Given the description of an element on the screen output the (x, y) to click on. 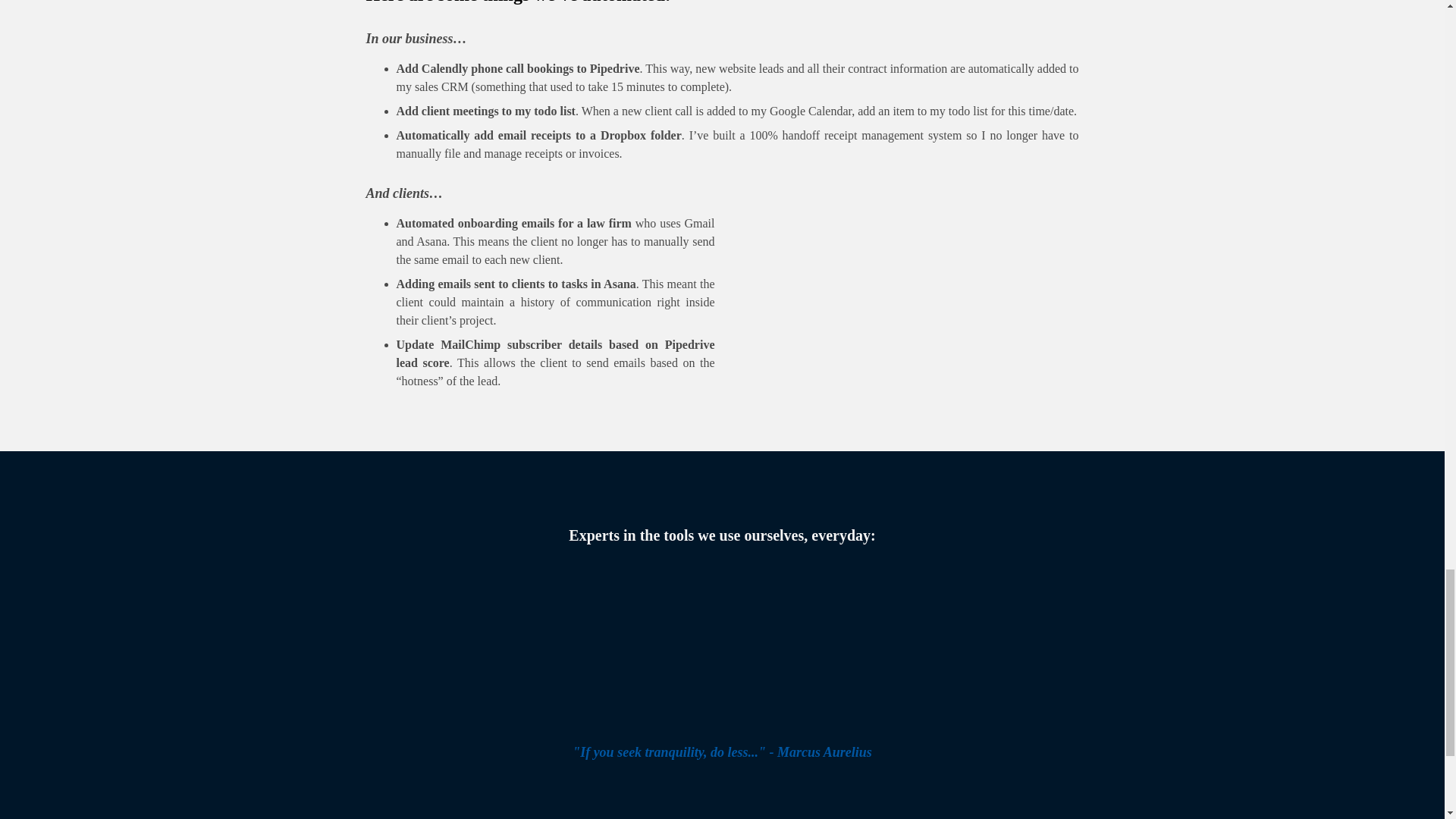
CONSULTING (590, 817)
